Given the description of an element on the screen output the (x, y) to click on. 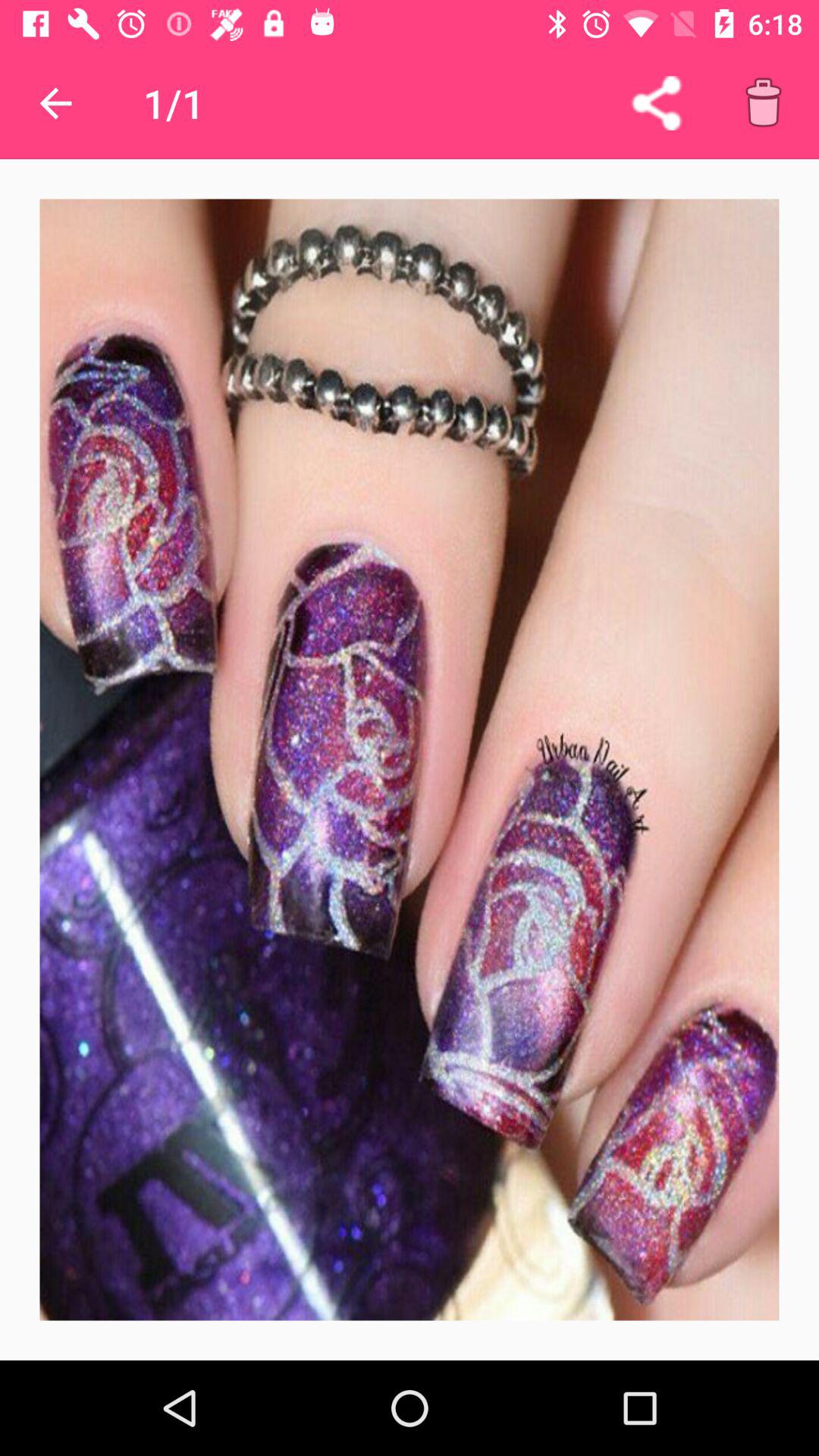
share entry (656, 103)
